Given the description of an element on the screen output the (x, y) to click on. 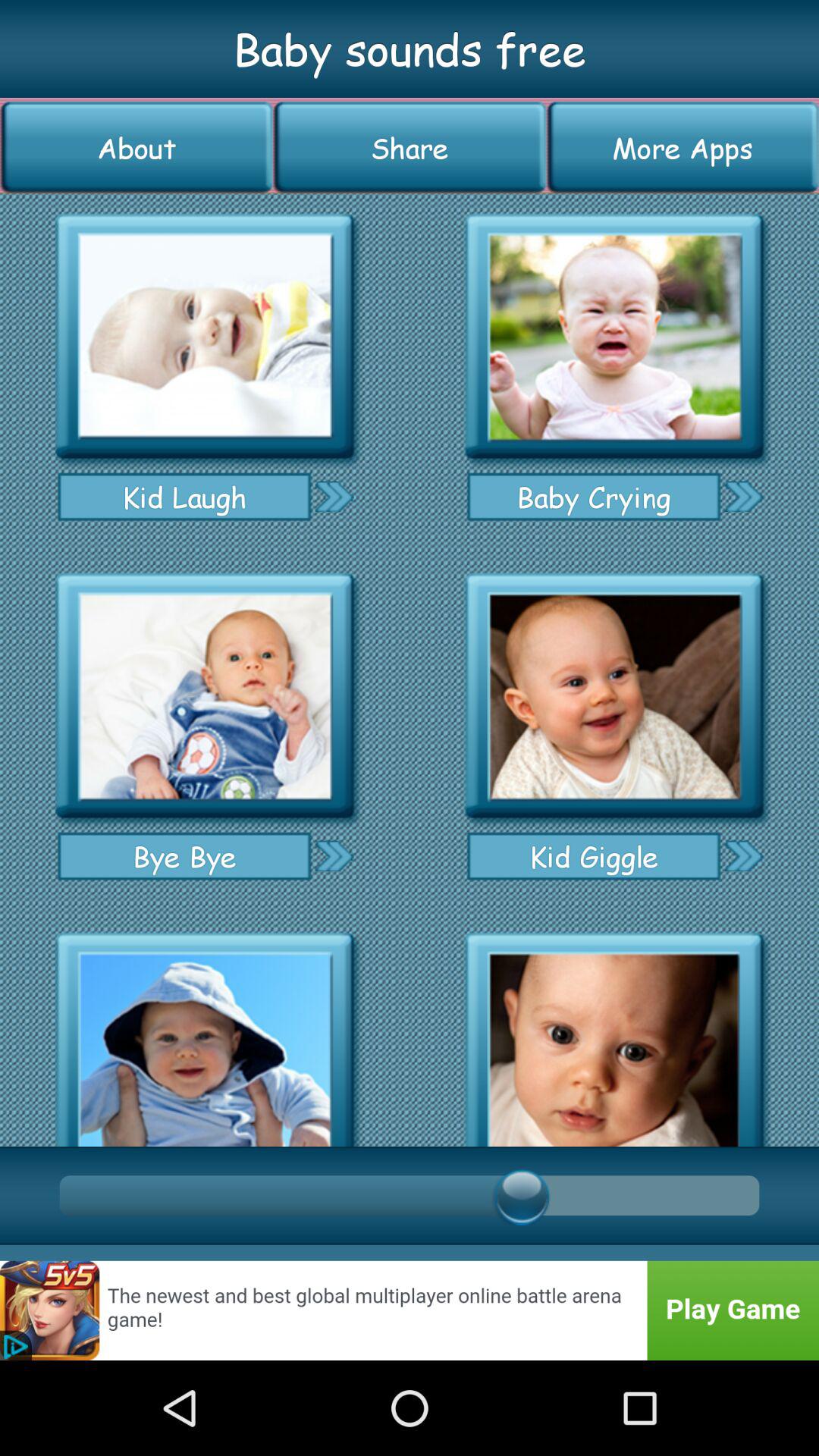
play crying baby sound (613, 336)
